Given the description of an element on the screen output the (x, y) to click on. 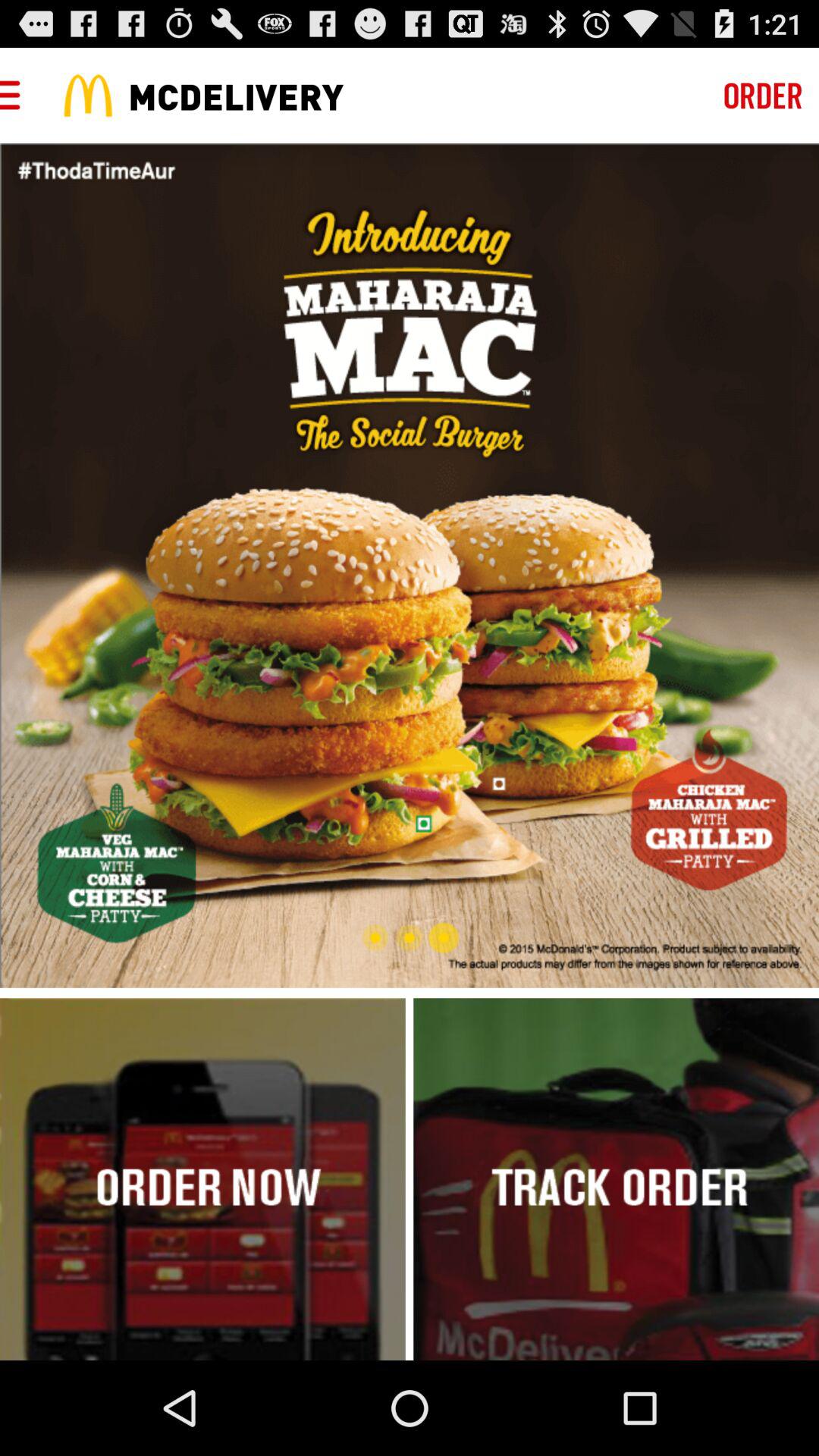
select the icon which is left side of the mcdelivery (87, 95)
select the icon which is left side of the mcdelivery (87, 95)
